Given the description of an element on the screen output the (x, y) to click on. 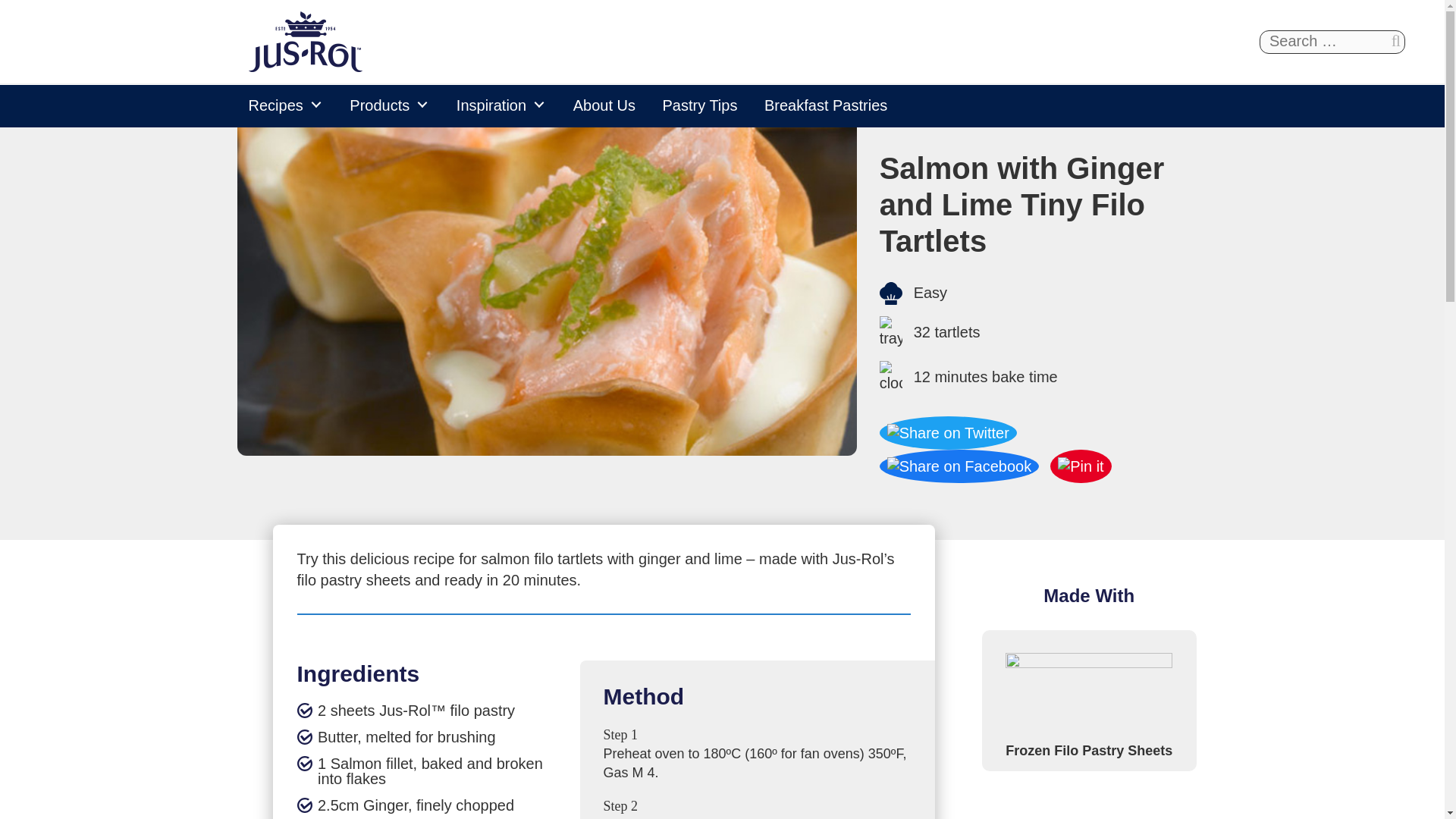
Products (389, 105)
Recipes (286, 105)
Search (1396, 40)
